Given the description of an element on the screen output the (x, y) to click on. 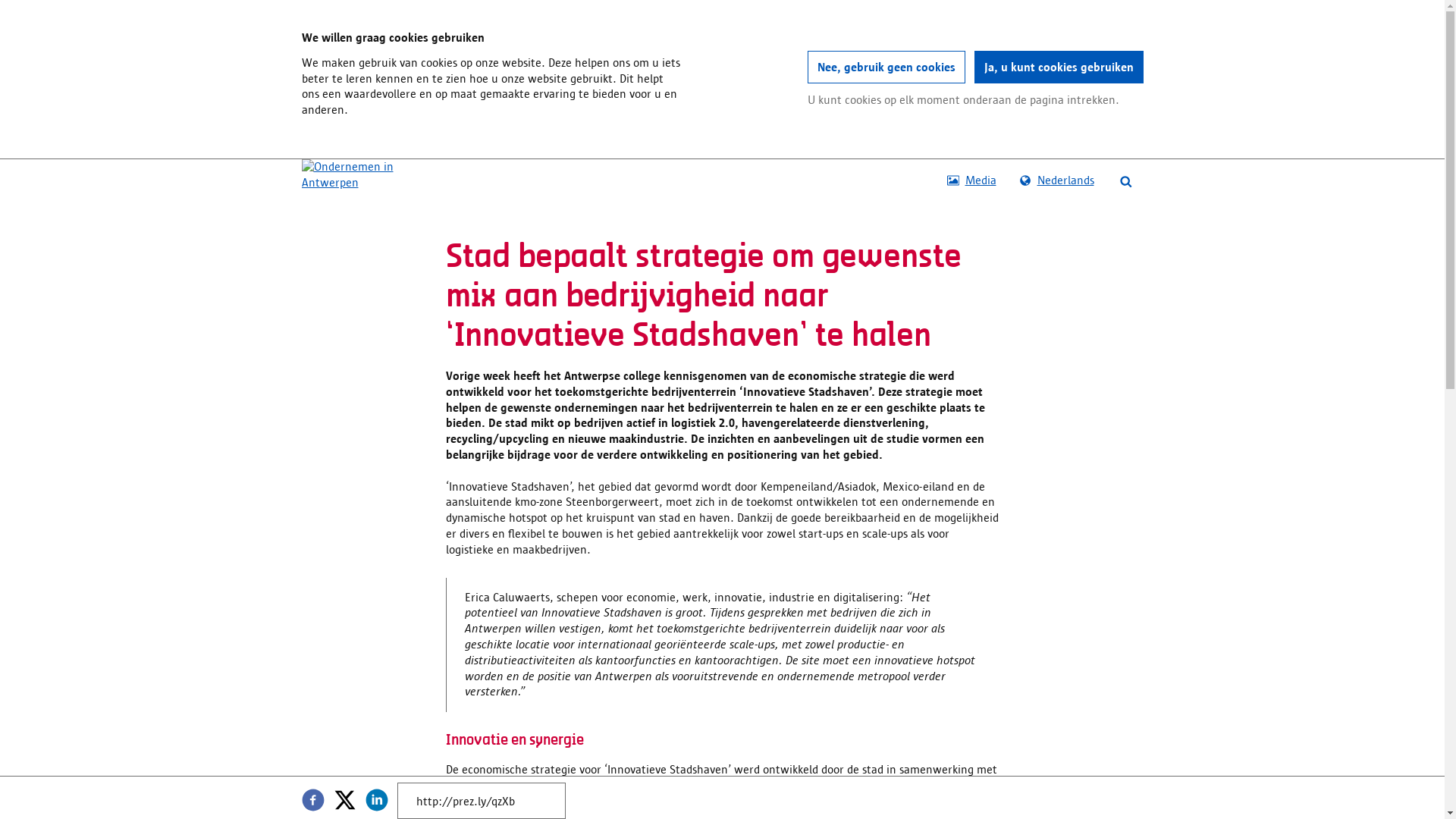
Nederlands Element type: text (1055, 180)
delen op LinkedIn Element type: hover (376, 799)
Ja, u kunt cookies gebruiken Element type: text (1057, 67)
Media Element type: text (971, 180)
Zoek in de newsroom Element type: hover (1125, 180)
Nee, gebruik geen cookies Element type: text (885, 67)
delen op Twitter Element type: hover (344, 799)
delen op Facebook Element type: hover (312, 799)
Ondernemen in Antwerpen Element type: hover (356, 173)
Skip to Content Element type: text (301, 159)
